Given the description of an element on the screen output the (x, y) to click on. 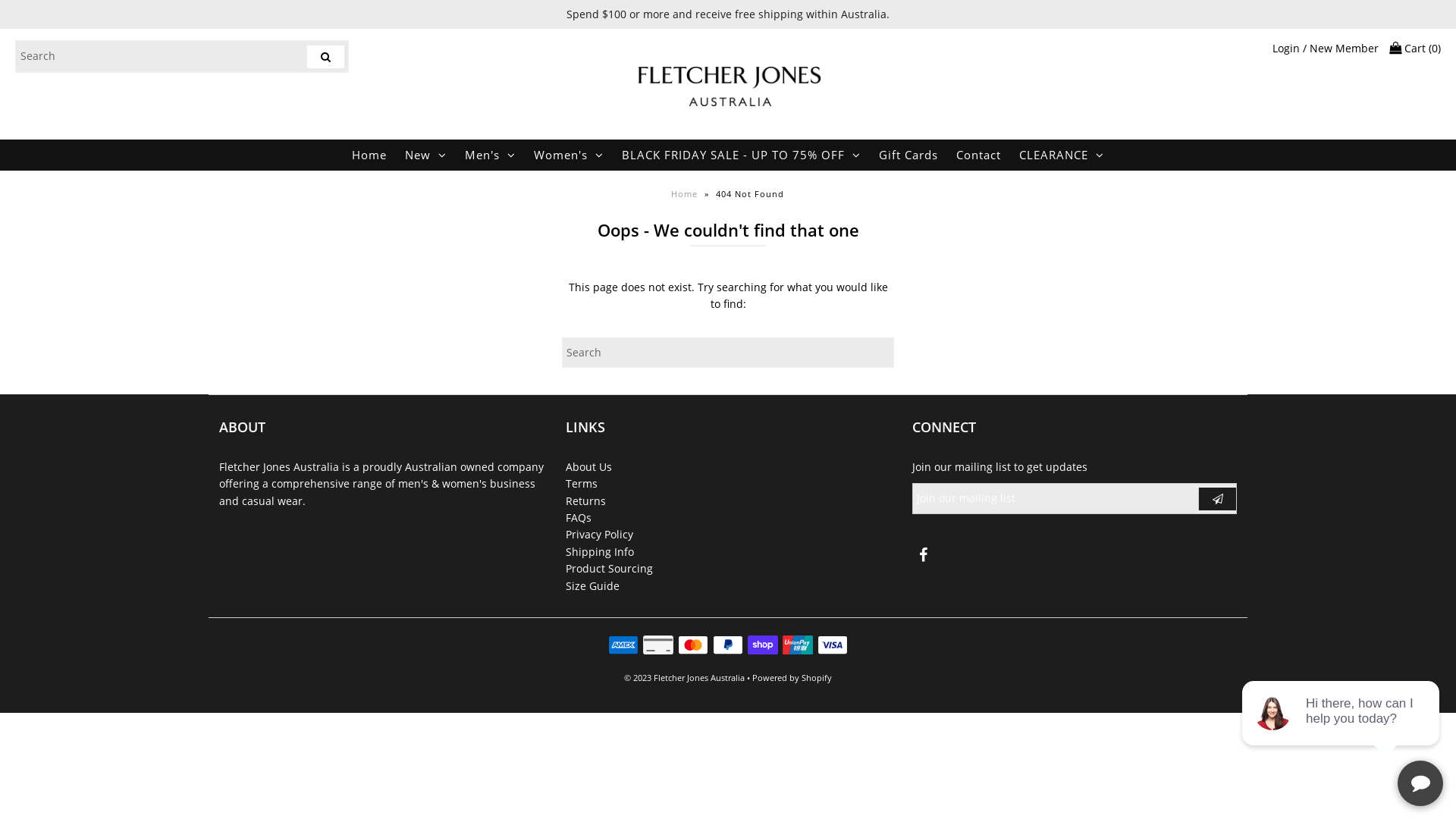
Shipping Info Element type: text (599, 551)
Privacy Policy Element type: text (599, 534)
Product Sourcing Element type: text (608, 568)
BLACK FRIDAY SALE - UP TO 75% OFF Element type: text (741, 154)
Home Element type: text (686, 193)
Size Guide Element type: text (592, 584)
Cart (0) Element type: text (1414, 47)
CLEARANCE Element type: text (1061, 154)
Home Element type: text (369, 154)
Powered by Shopify Element type: text (791, 677)
Terms Element type: text (581, 483)
Login / New Member Element type: text (1325, 47)
FAQs Element type: text (578, 517)
About Us Element type: text (588, 466)
Men's Element type: text (490, 154)
New Element type: text (425, 154)
Contact Element type: text (978, 154)
Women's Element type: text (568, 154)
Gift Cards Element type: text (908, 154)
Returns Element type: text (585, 500)
